Given the description of an element on the screen output the (x, y) to click on. 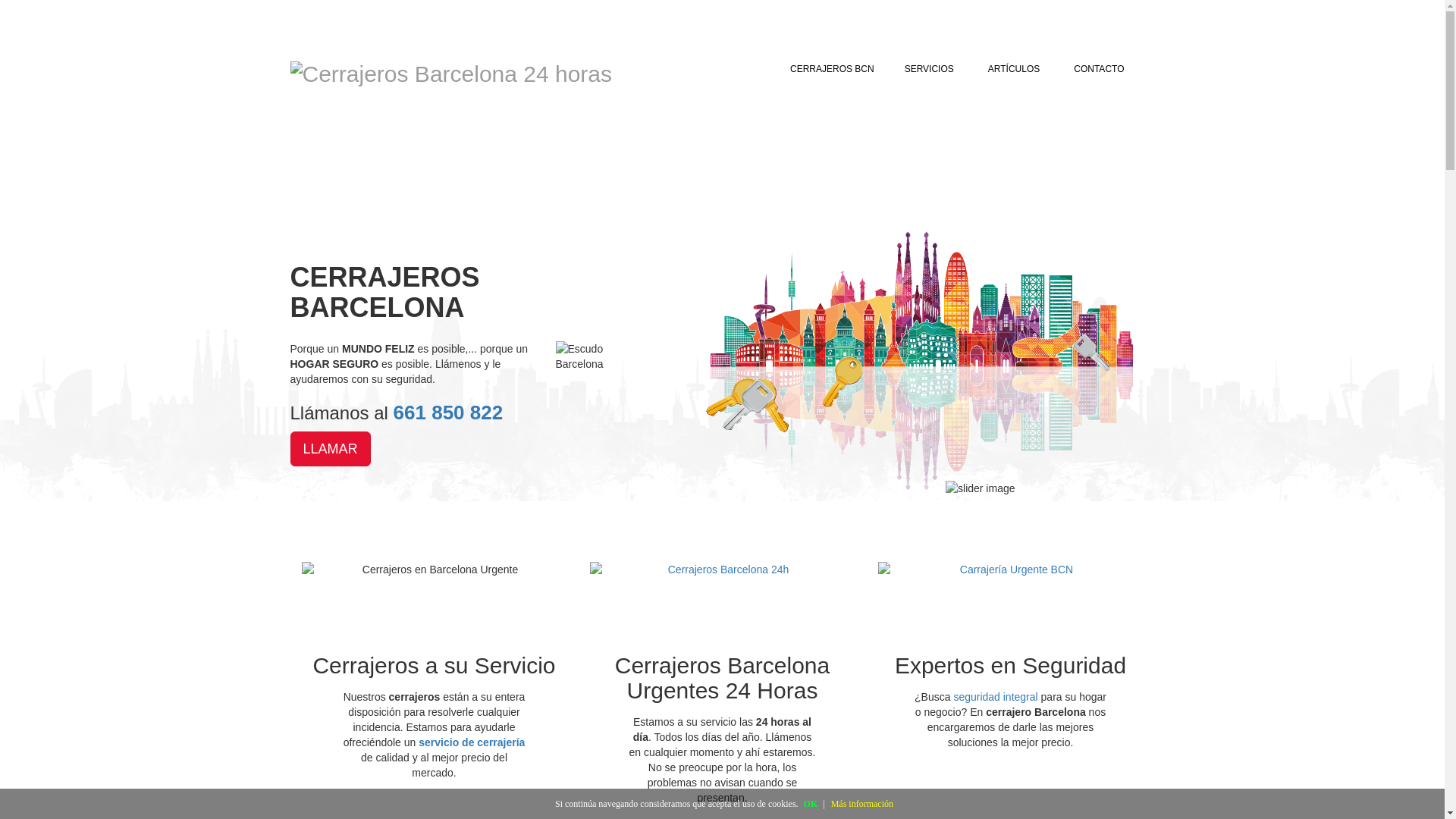
LLAMAR Element type: text (329, 448)
seguridad integral Element type: text (995, 696)
OK Element type: text (810, 803)
661 850 822 Element type: text (448, 412)
CONTACTO Element type: text (1098, 68)
SERVICIOS Element type: text (930, 68)
CERRAJEROS BCN Element type: text (832, 68)
